Given the description of an element on the screen output the (x, y) to click on. 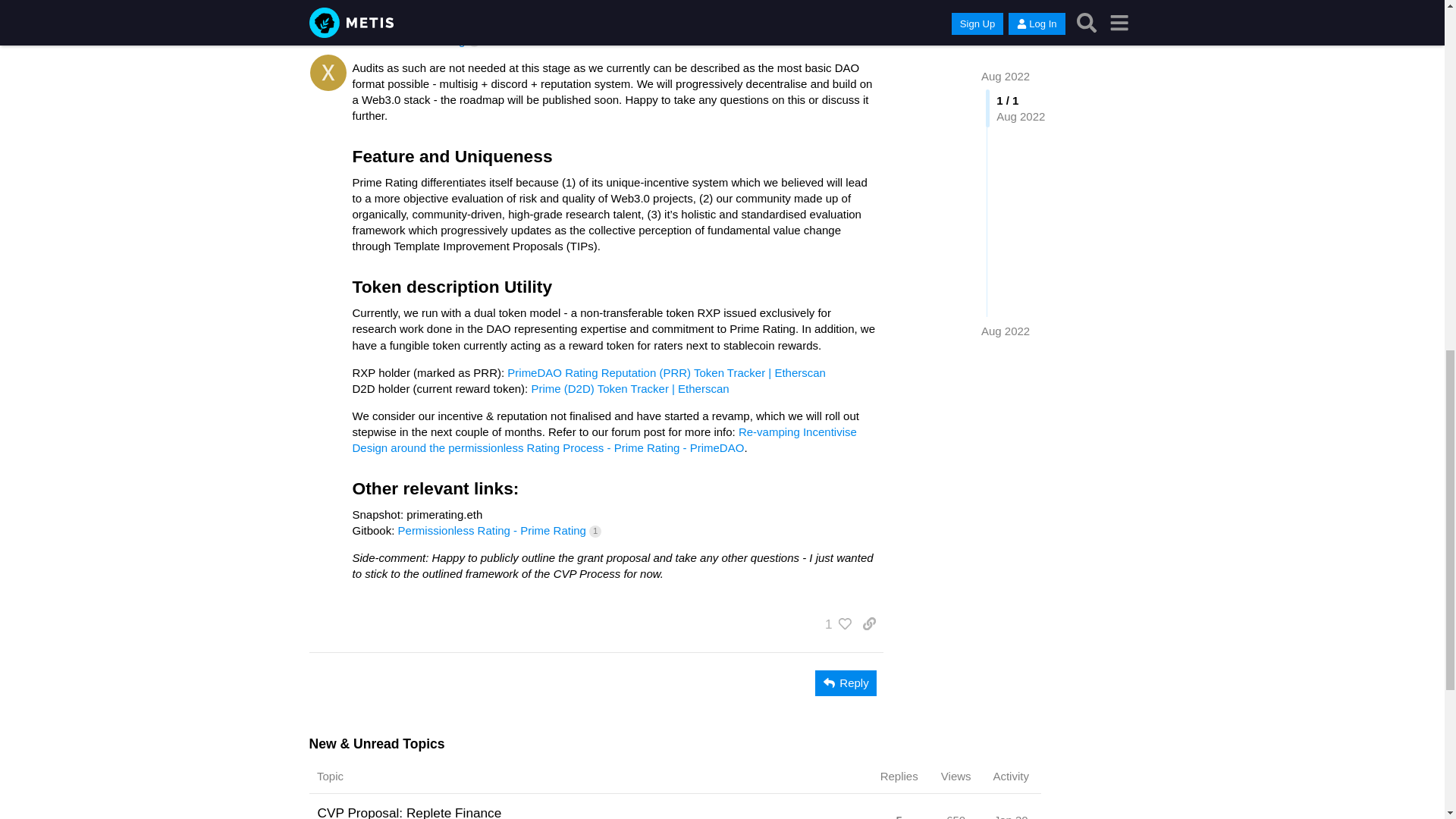
1 person liked this post (833, 623)
This topic has 5 replies (898, 811)
copy a link to this post to clipboard (869, 623)
CVP Proposal: Replete Finance (408, 806)
Permissionless Rating - Prime Rating 1 (499, 530)
Reply (846, 683)
Prime Rating 1 (439, 40)
Jan 30 (1011, 810)
1 click (595, 531)
1 click (474, 40)
this topic has been viewed 650 times (955, 816)
1 (833, 623)
